Given the description of an element on the screen output the (x, y) to click on. 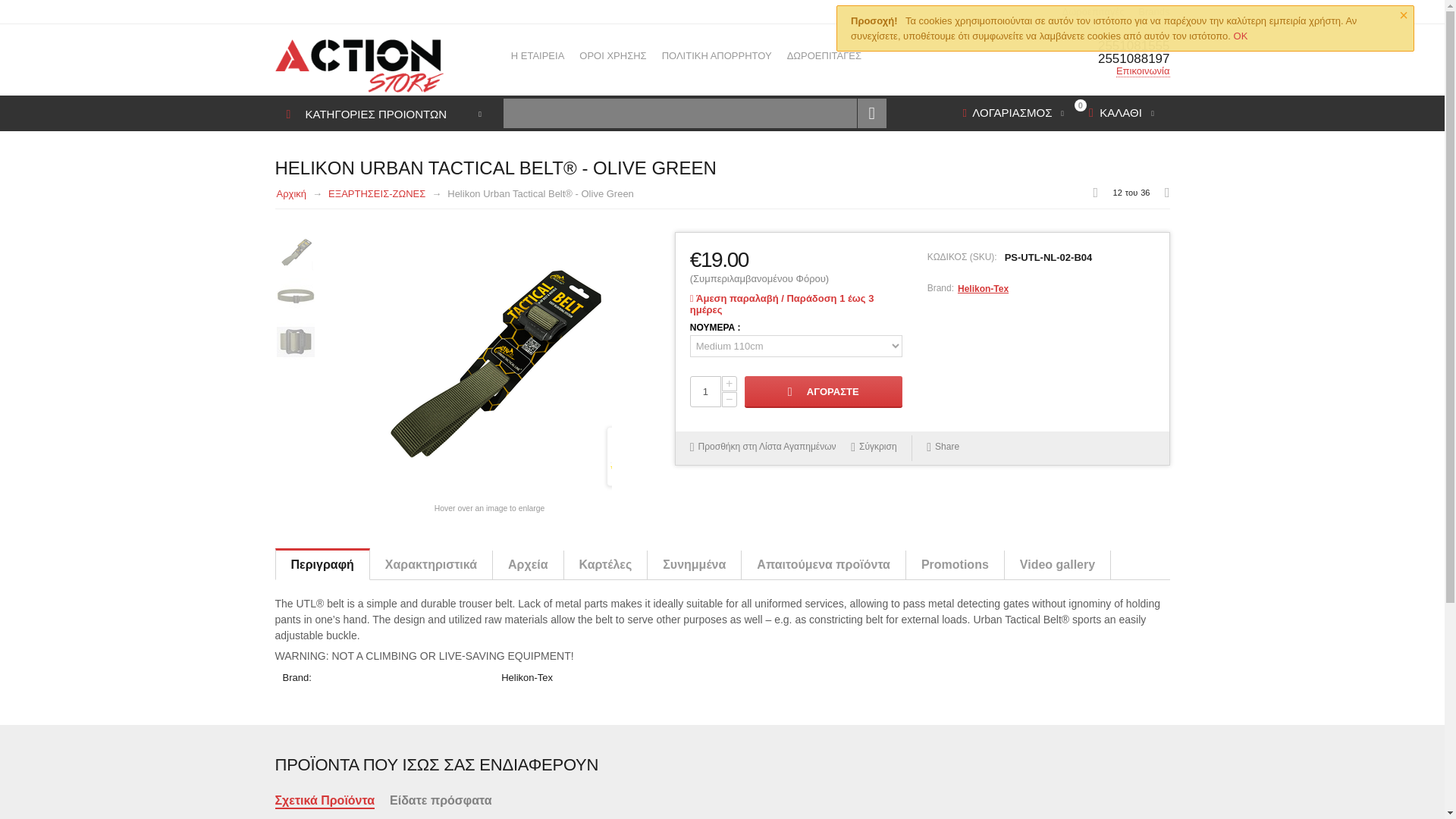
1 (705, 391)
OK (1240, 35)
2551081555 (1133, 45)
2551088197 (1133, 58)
Brands (1153, 11)
